Given the description of an element on the screen output the (x, y) to click on. 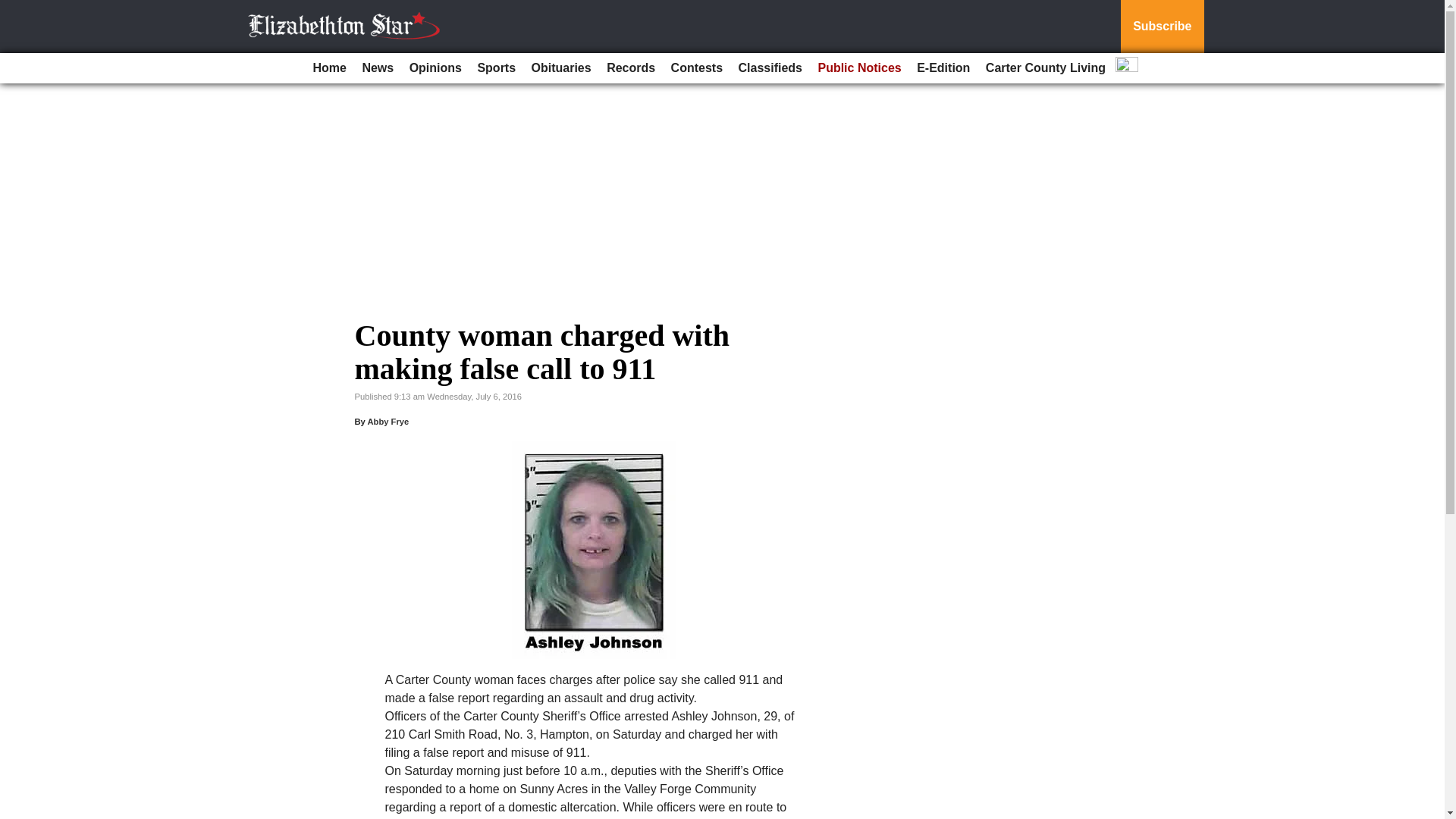
Home (328, 68)
Carter County Living (1045, 68)
Records (630, 68)
E-Edition (943, 68)
Contests (697, 68)
News (376, 68)
Opinions (435, 68)
Sports (495, 68)
Obituaries (560, 68)
Classifieds (770, 68)
